Given the description of an element on the screen output the (x, y) to click on. 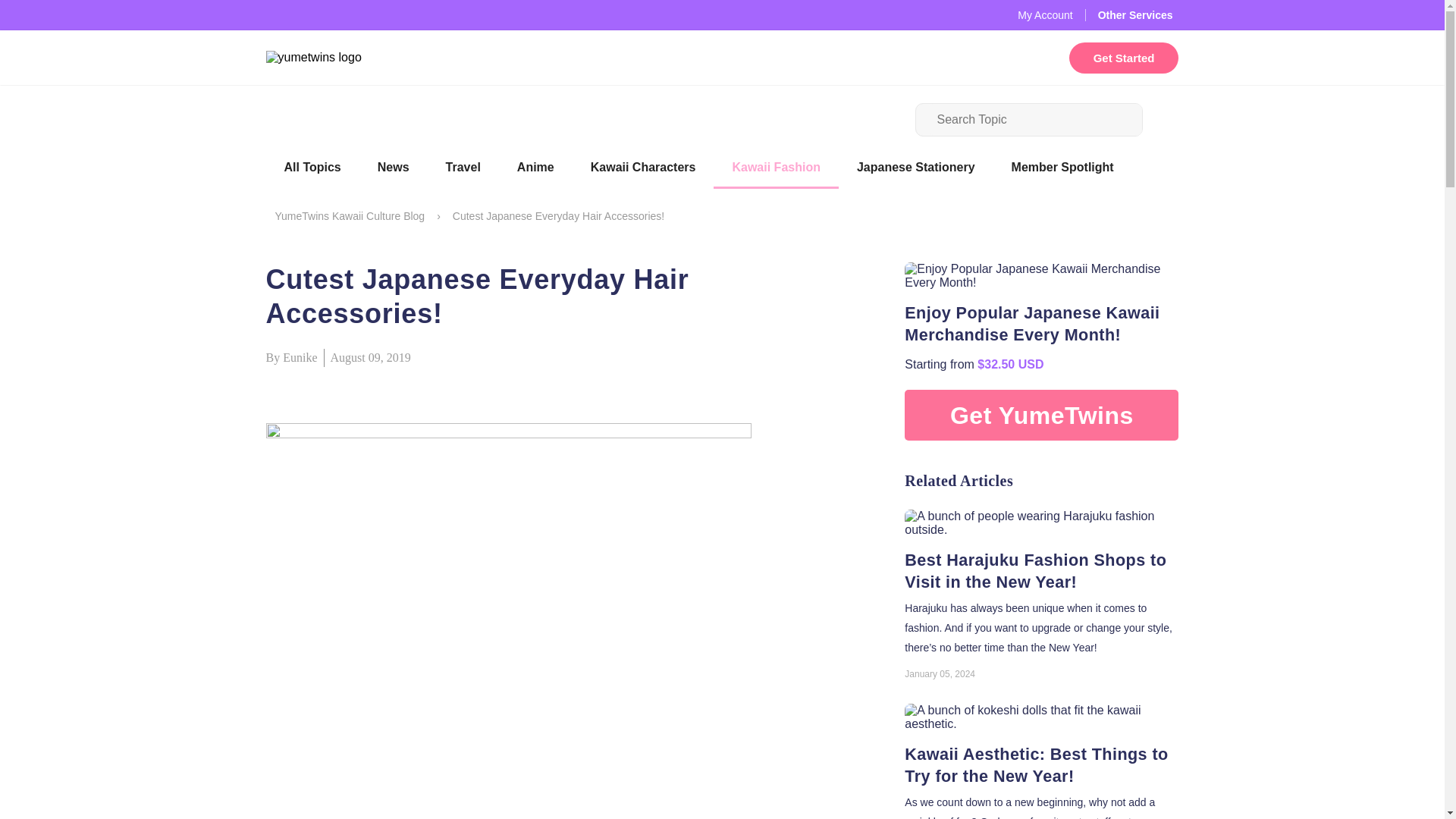
Get Started (1123, 57)
Kawaii Fashion (775, 168)
All Topics (311, 168)
Travel (463, 168)
Japanese Stationery (915, 168)
My Account (1044, 15)
Anime (535, 168)
News (393, 168)
Member Spotlight (1062, 168)
Kawaii Characters (643, 168)
